Given the description of an element on the screen output the (x, y) to click on. 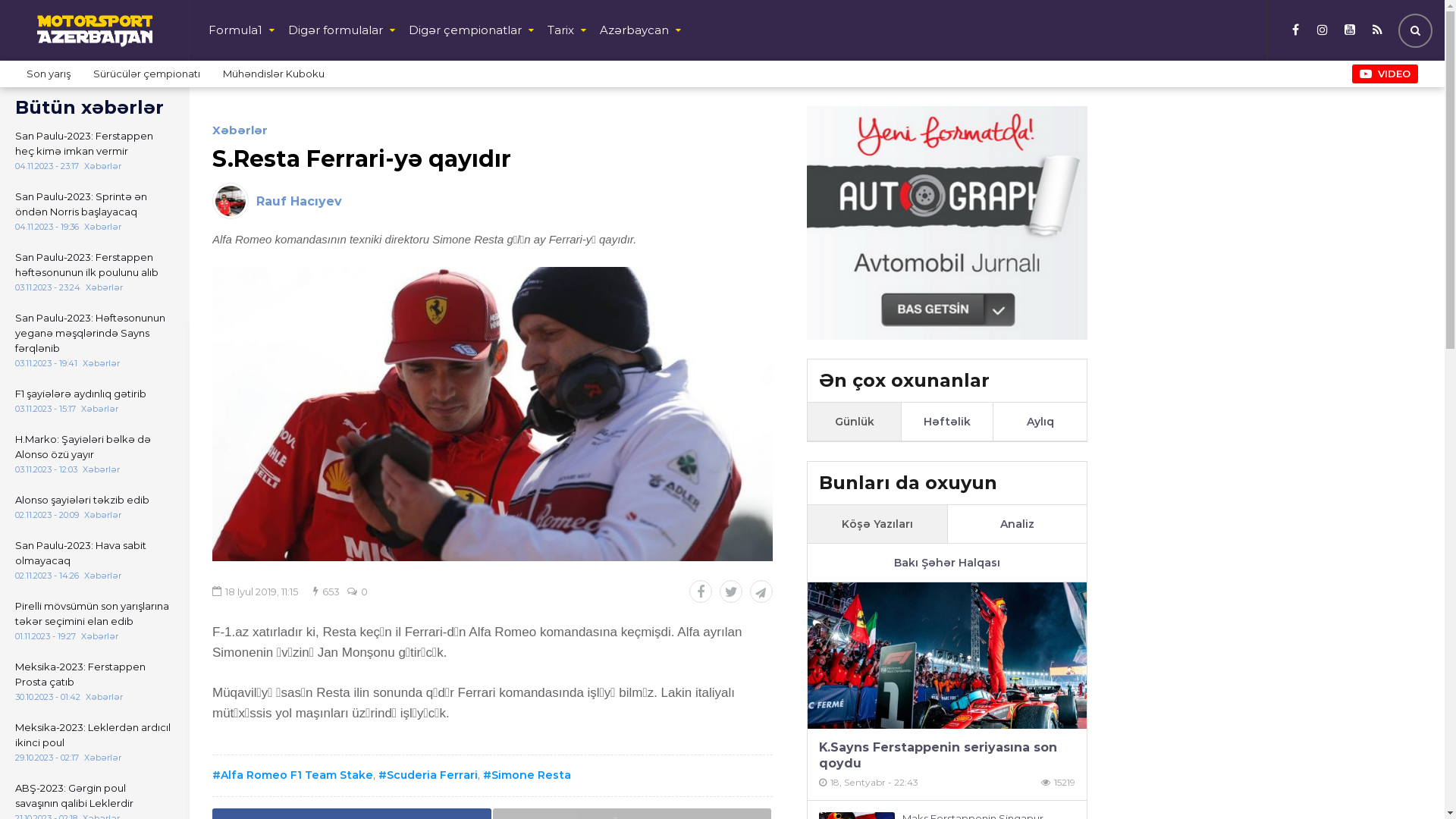
Formula1 Element type: text (244, 30)
Simone Resta Element type: text (527, 774)
Reklam Element type: hover (946, 222)
www.F-1.Az Element type: hover (94, 31)
San Paulu-2023: Hava sabit olmayacaq Element type: text (92, 552)
Alfa Romeo F1 Team Stake Element type: text (292, 774)
Analiz Element type: text (1016, 523)
Scuderia Ferrari Element type: text (427, 774)
VIDEO Element type: text (1385, 73)
Tarix Element type: text (569, 30)
